Given the description of an element on the screen output the (x, y) to click on. 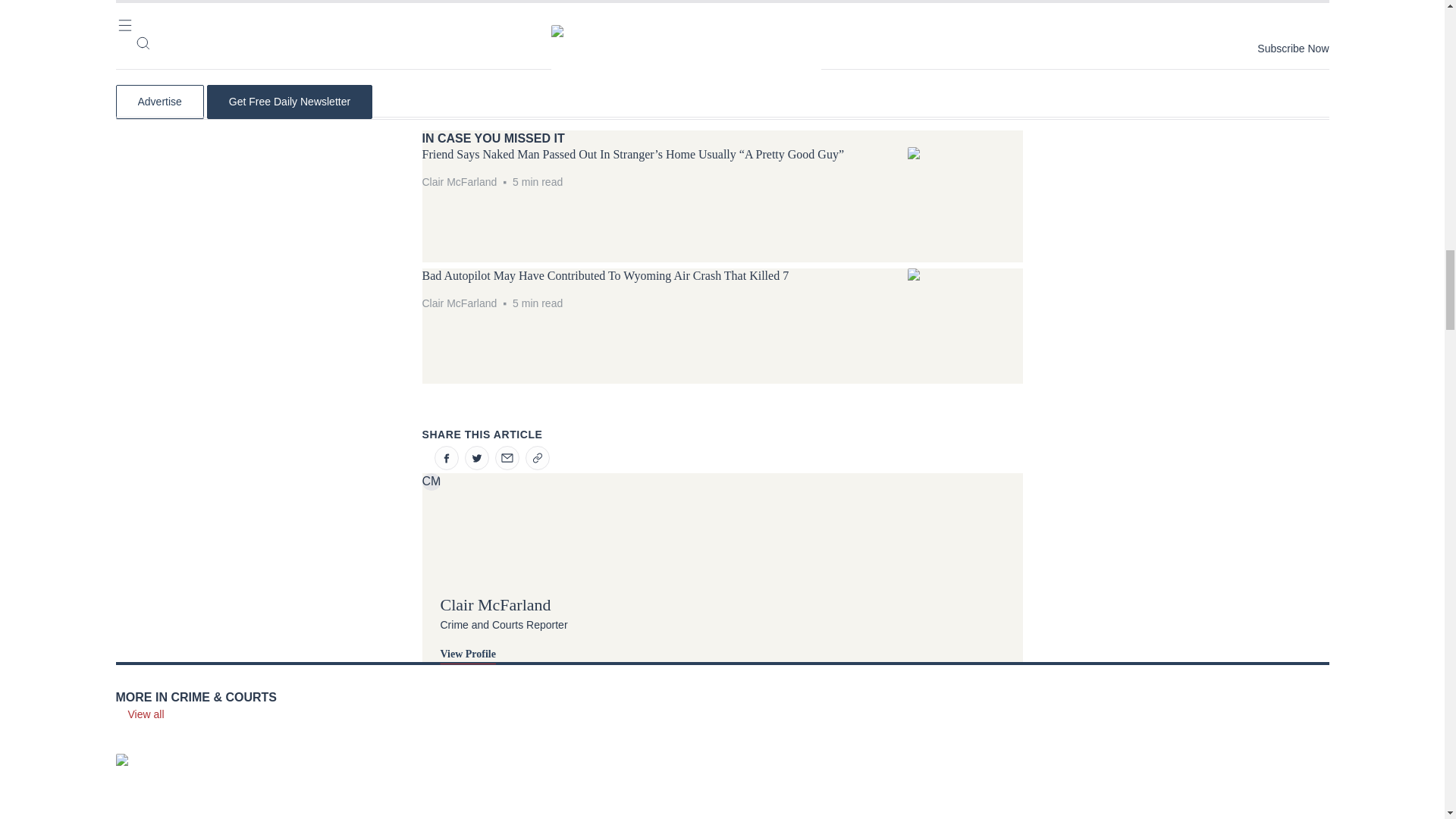
Copy to clipboard (536, 457)
